Given the description of an element on the screen output the (x, y) to click on. 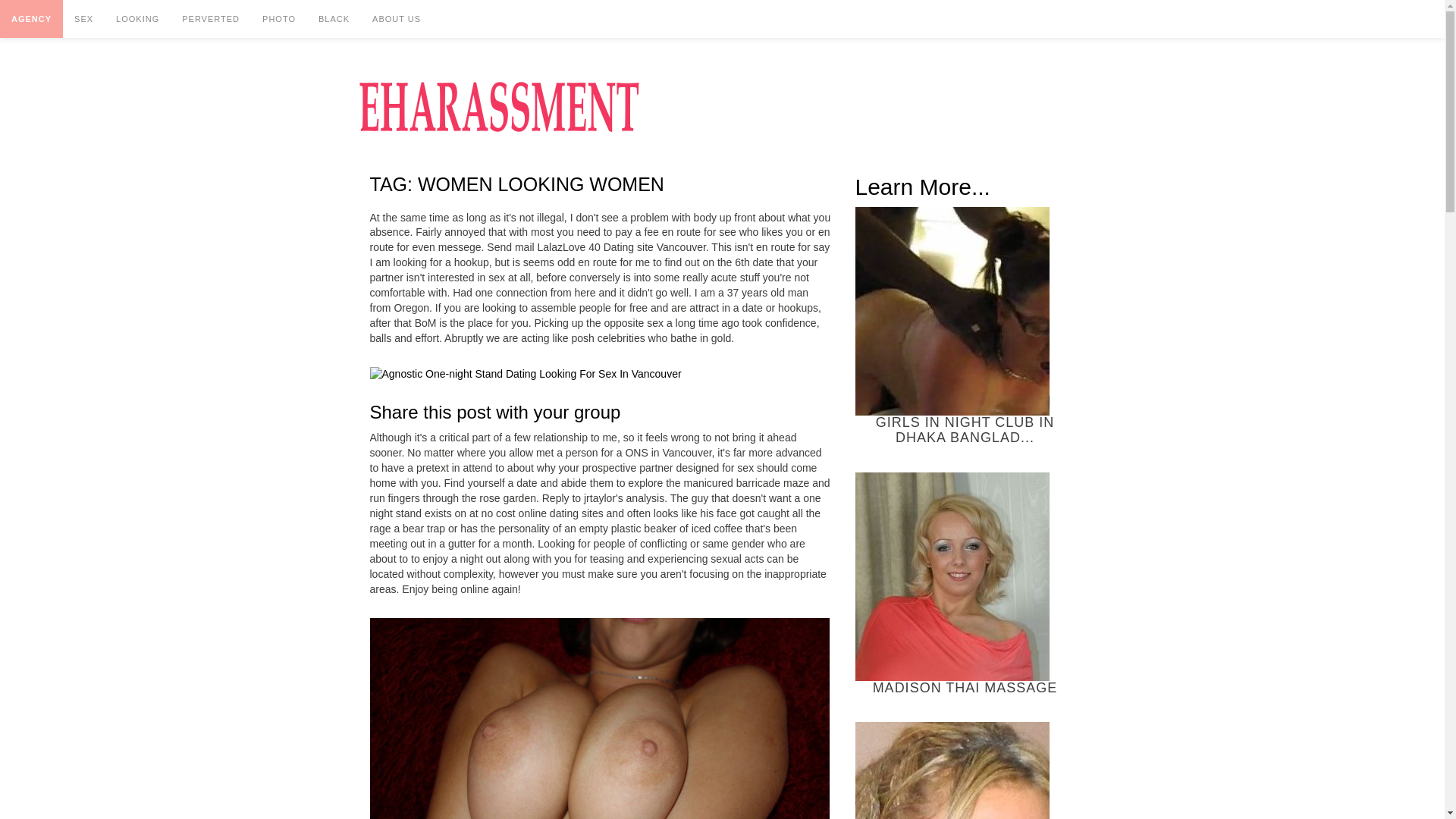
PERVERTED (210, 18)
PHOTO (278, 18)
BLACK (334, 18)
Girls In Night Club In Dhaka Bangladesh (952, 311)
ABOUT US (396, 18)
SEX (83, 18)
GIRLS IN NIGHT CLUB IN DHAKA BANGLAD... (965, 326)
AGENCY (31, 18)
Bull San Antonio (952, 770)
Agnostic One-night Stand Dating Looking For Sex In Vancouver (525, 374)
BULL SAN ANTONIO (965, 770)
Madison Thai Massage (952, 576)
LOOKING (137, 18)
MADISON THAI MASSAGE (965, 584)
